Given the description of an element on the screen output the (x, y) to click on. 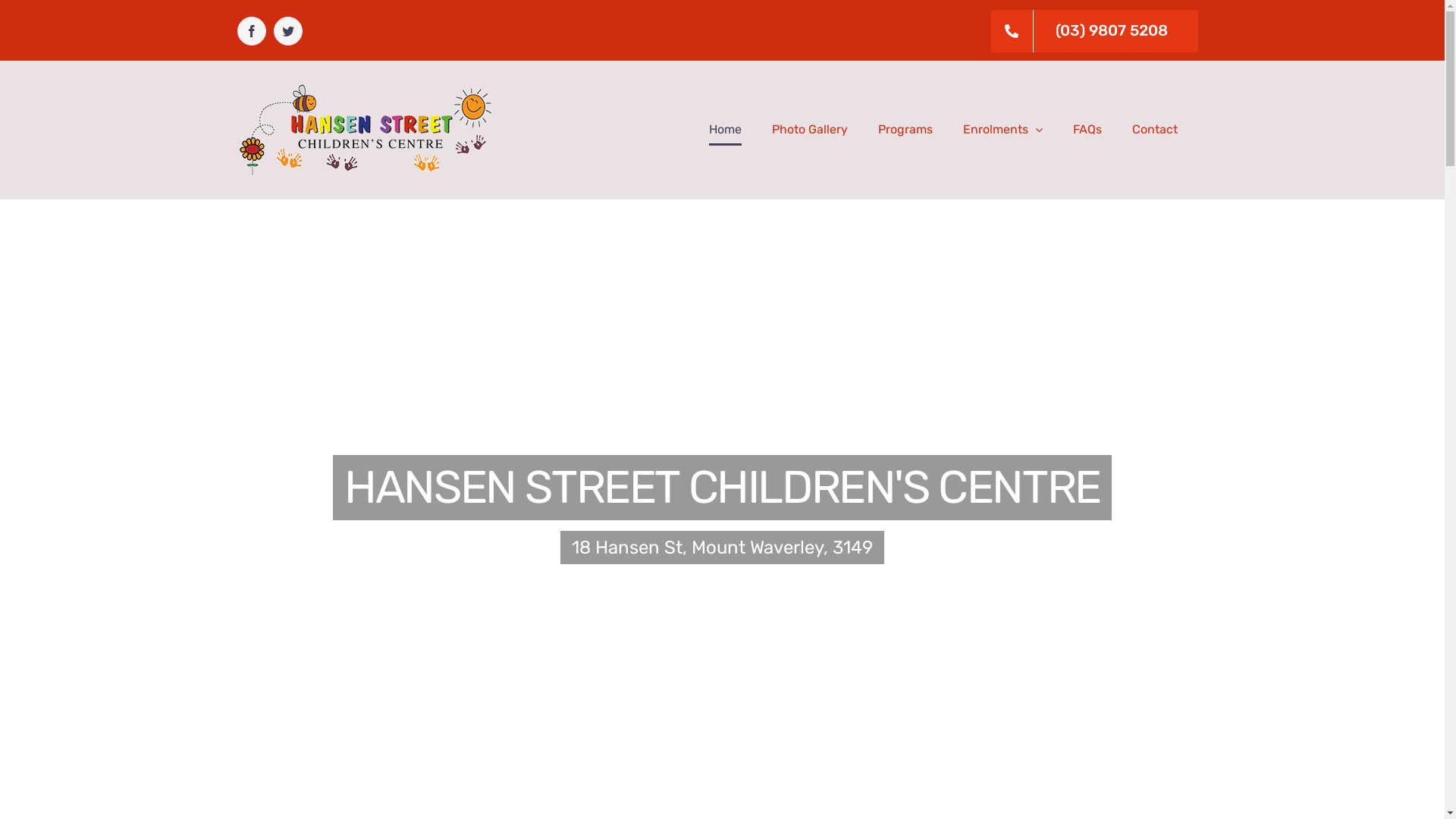
Photo Gallery Element type: text (809, 129)
FAQs Element type: text (1086, 129)
Twitter Element type: text (287, 30)
Contact Element type: text (1153, 129)
(03) 9807 5208 Element type: text (1094, 30)
Programs Element type: text (905, 129)
Facebook Element type: text (250, 30)
Enrolments Element type: text (1002, 129)
Home Element type: text (724, 129)
